Given the description of an element on the screen output the (x, y) to click on. 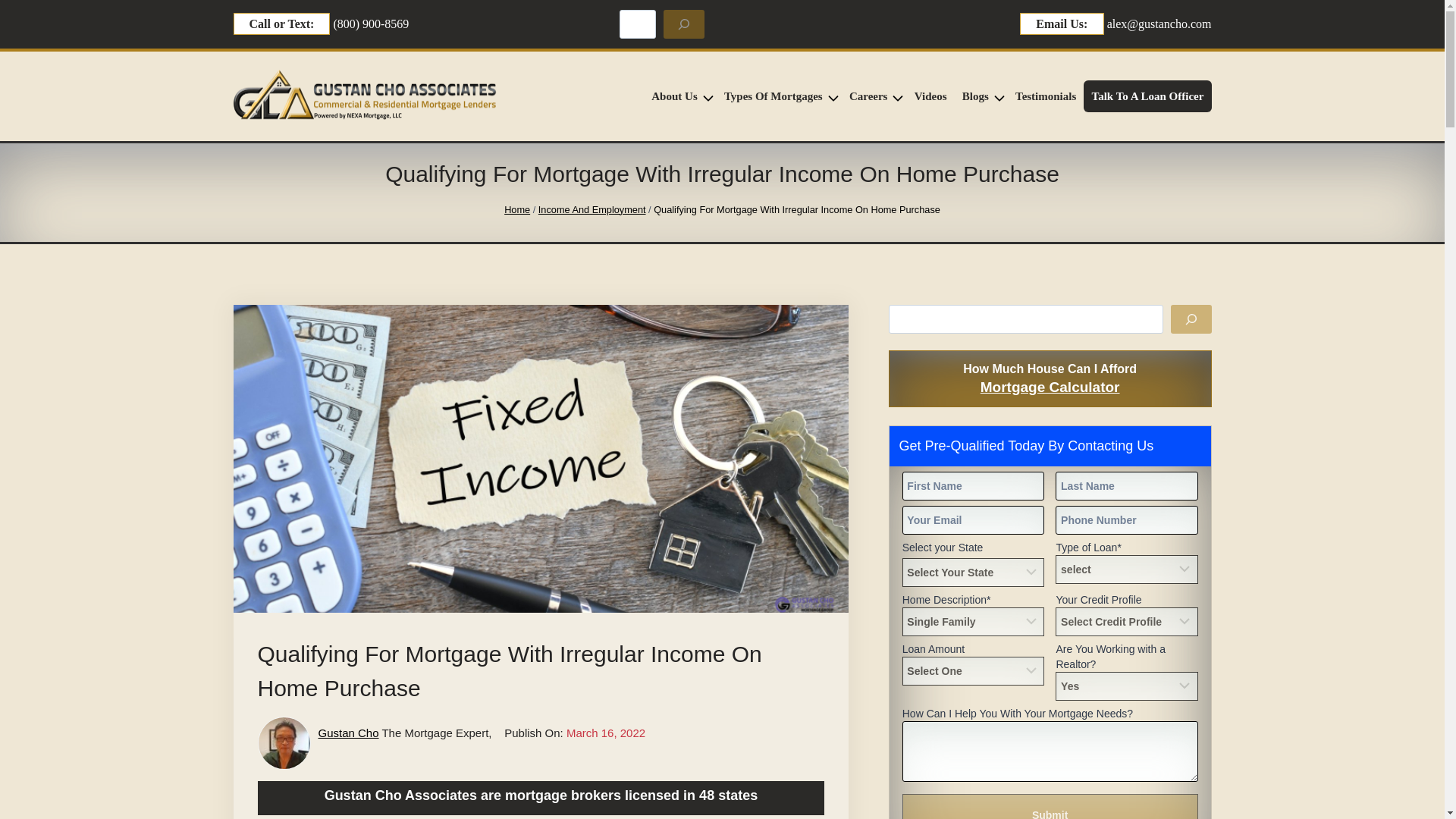
Submit (1050, 806)
Posts by Gustan Cho (348, 732)
Types Of Mortgages (778, 96)
About Us (679, 96)
Call or Text: (281, 24)
Email Us: (1061, 24)
